Given the description of an element on the screen output the (x, y) to click on. 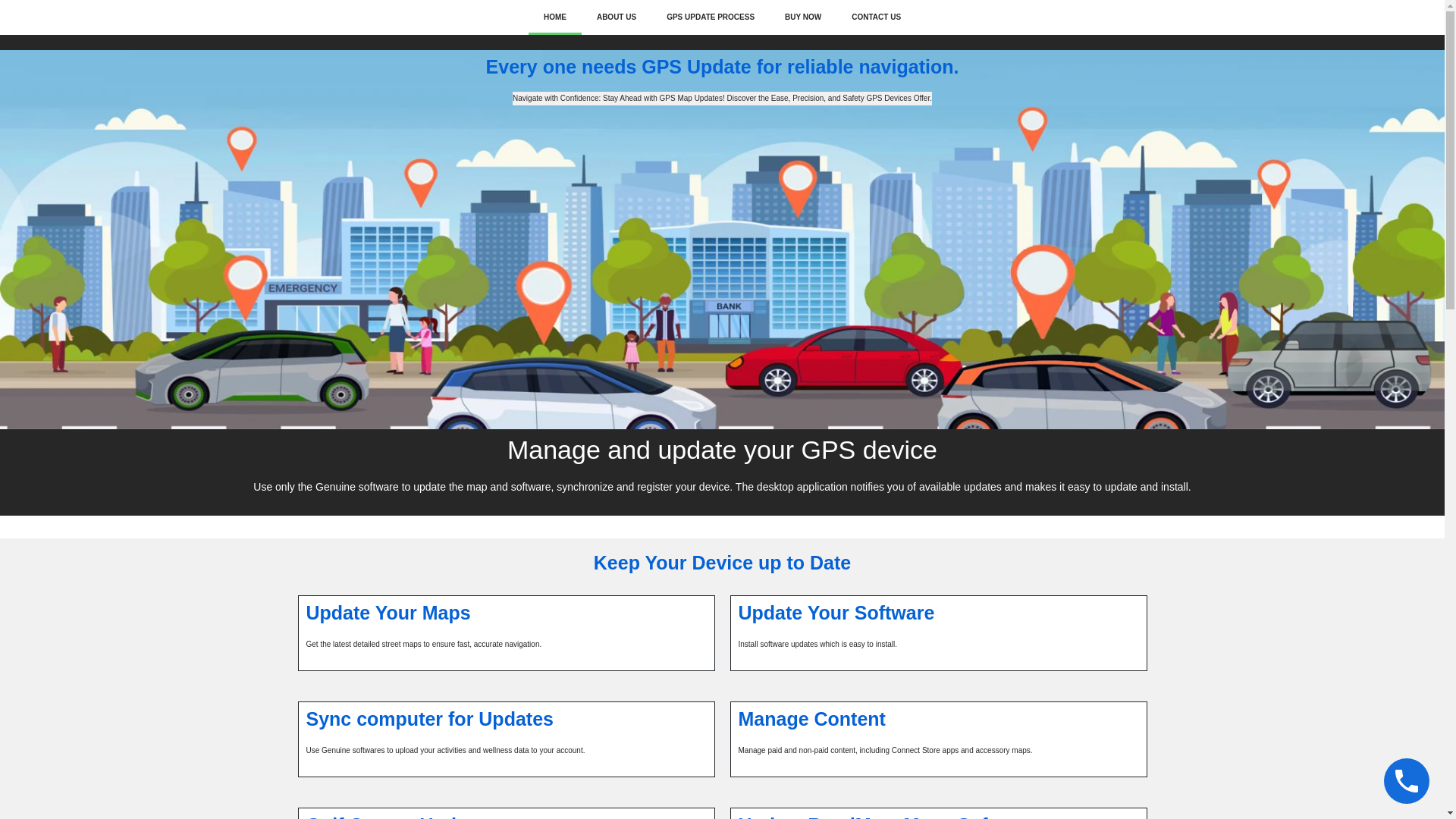
HOME (554, 17)
GPS UPDATE PROCESS (710, 17)
CONTACT US (875, 17)
BUY NOW (802, 17)
ABOUT US (615, 17)
